Given the description of an element on the screen output the (x, y) to click on. 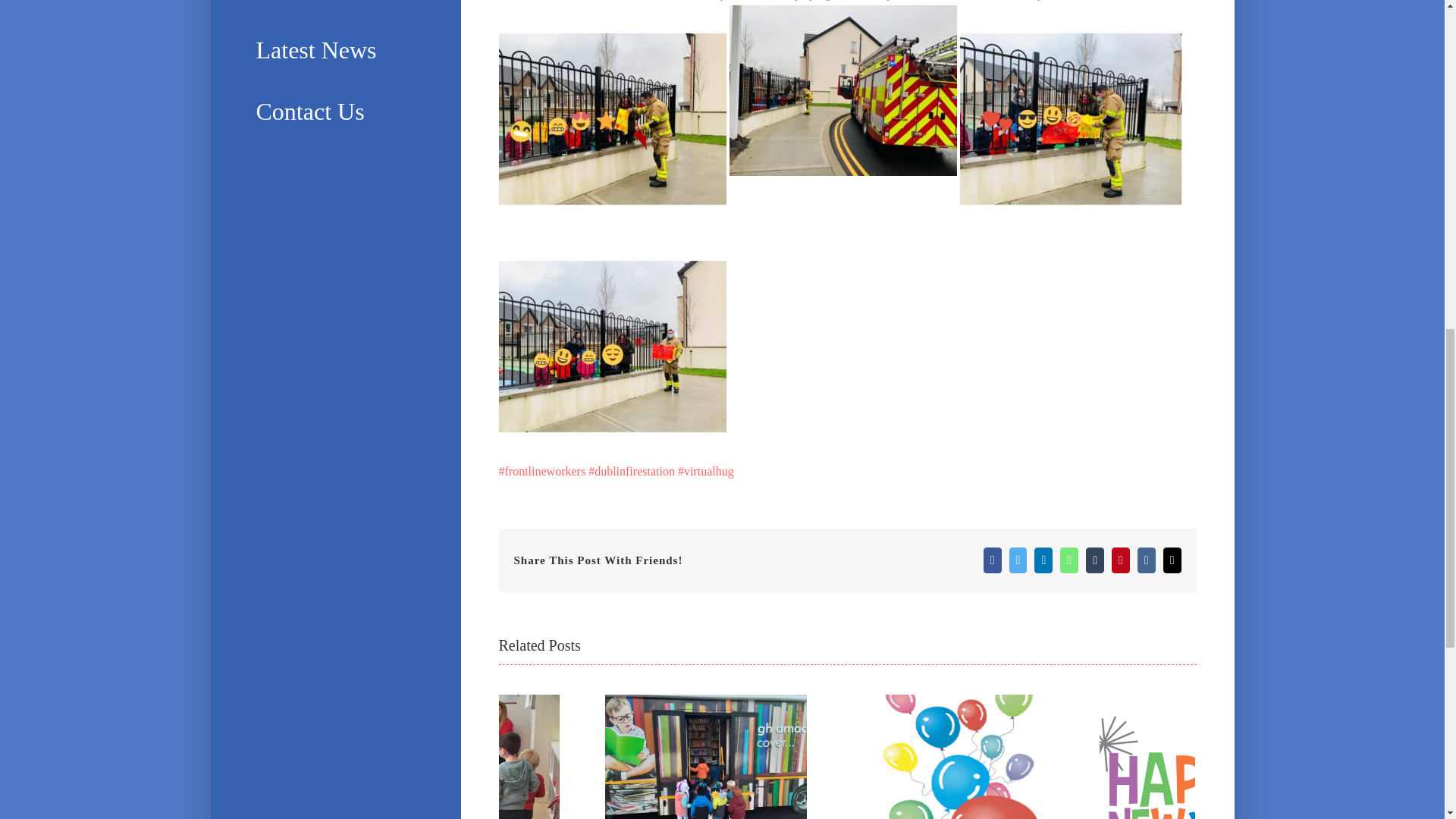
Latest News (335, 50)
Menu (335, 9)
Contact Us (335, 111)
